Given the description of an element on the screen output the (x, y) to click on. 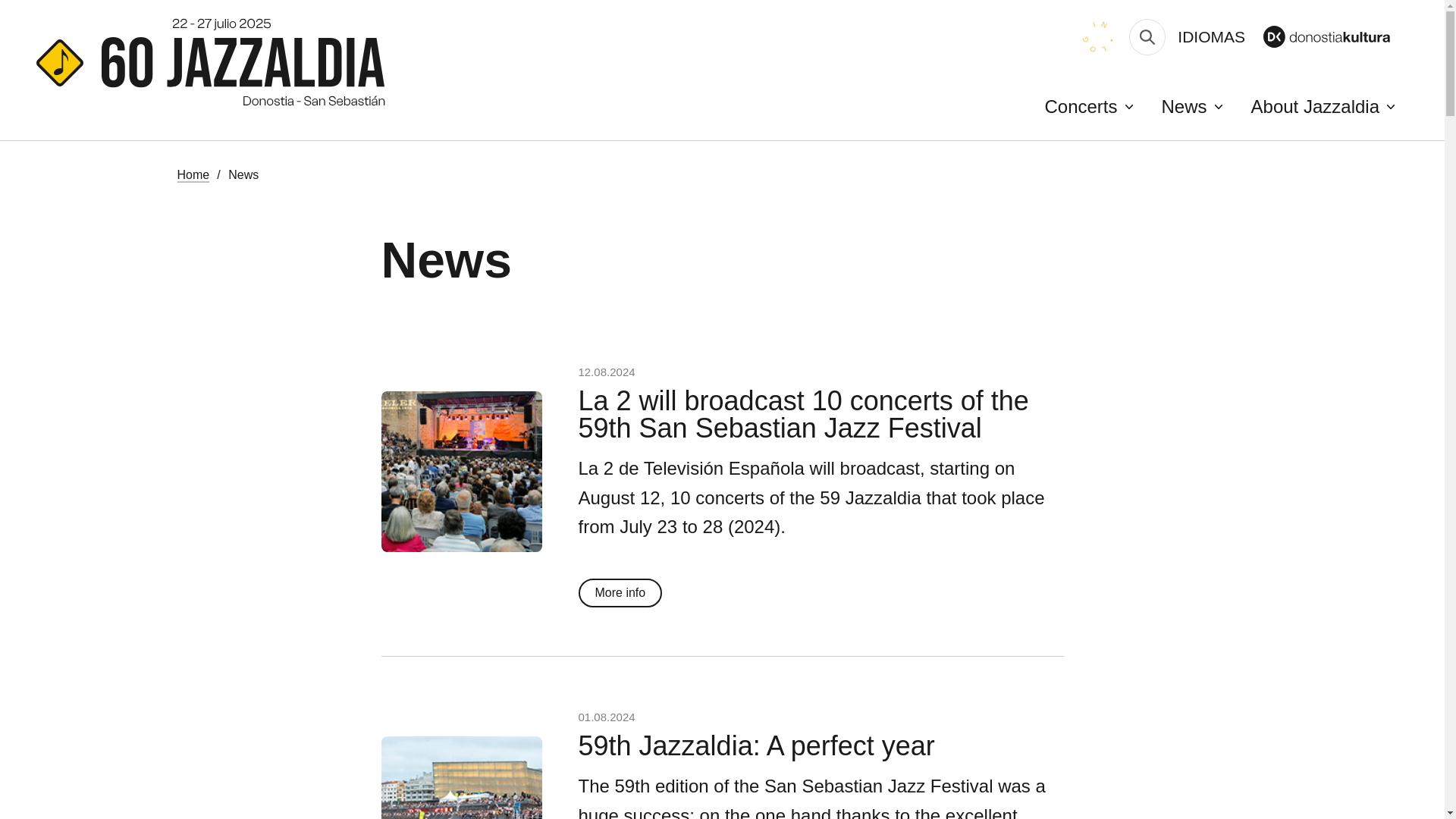
News (1191, 106)
Home (193, 174)
Search (1147, 36)
IDIOMAS (1210, 37)
59th Jazzaldia: A perfect year (756, 745)
More info (620, 592)
Concerts (1087, 106)
